Given the description of an element on the screen output the (x, y) to click on. 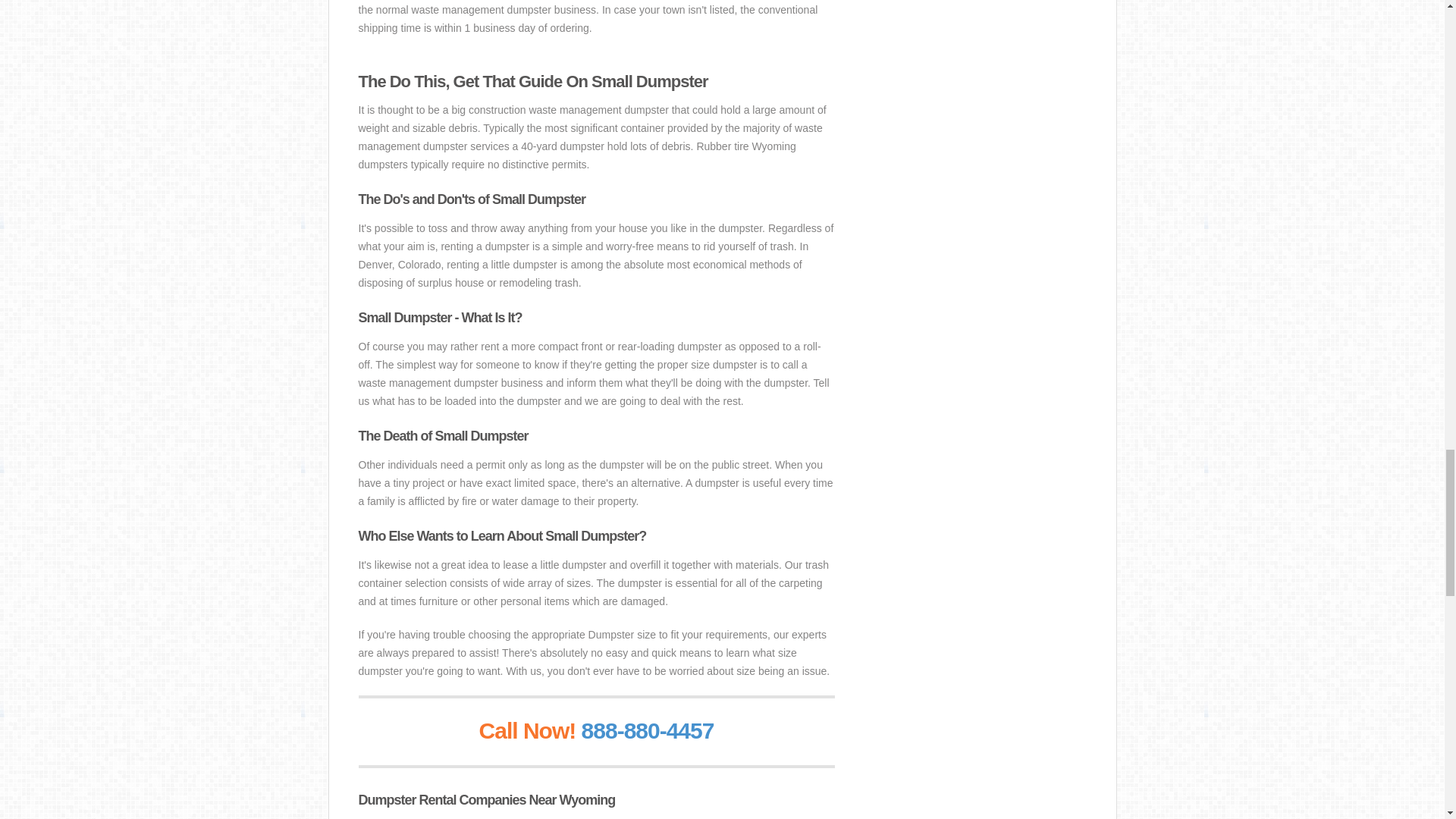
888-880-4457 (647, 730)
